Given the description of an element on the screen output the (x, y) to click on. 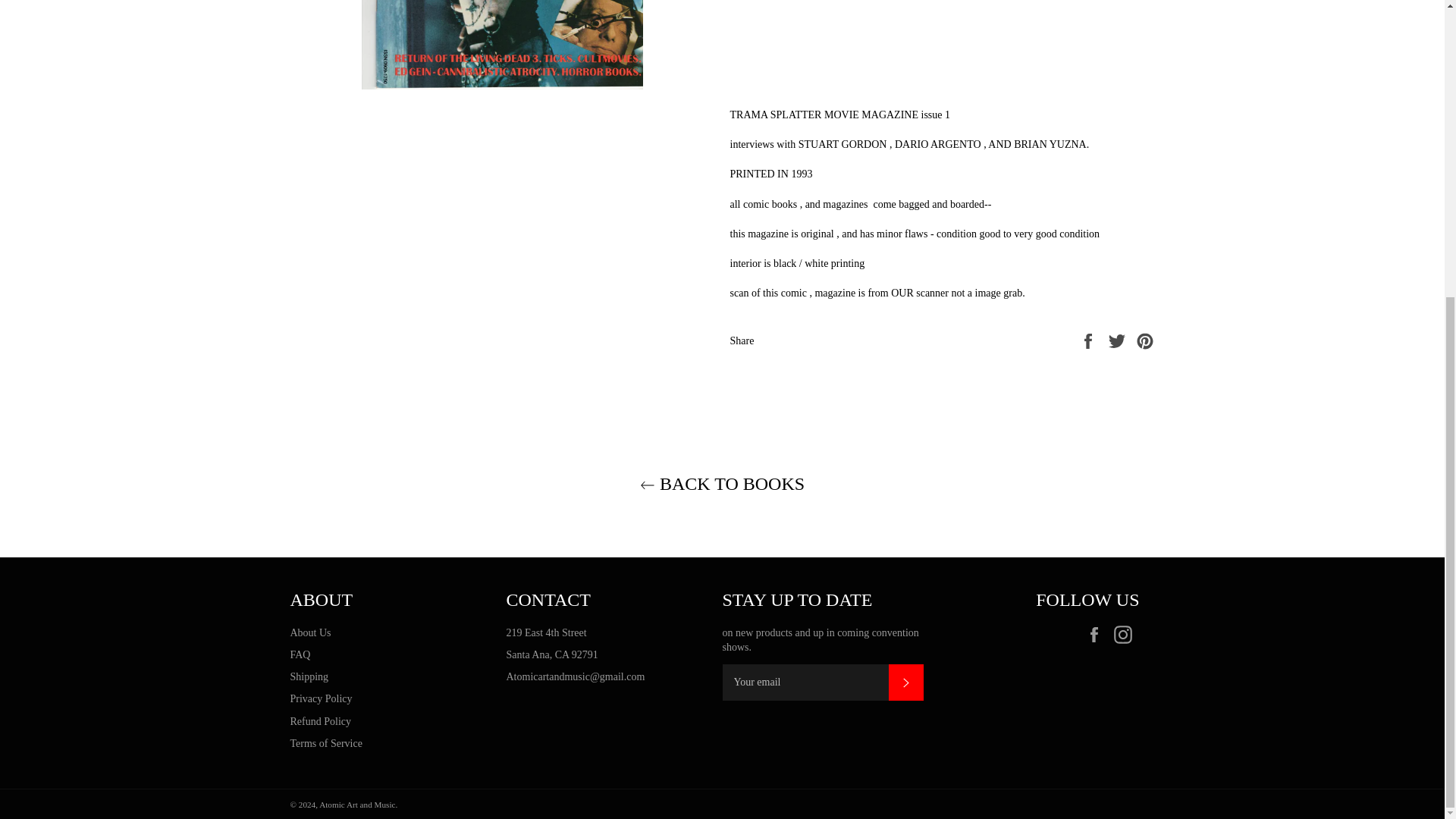
Tweet on Twitter (1118, 339)
Atomic Art and Music on Instagram (1125, 634)
Atomic Art and Music on Facebook (1097, 634)
Pin on Pinterest (1144, 339)
Share on Facebook (1089, 339)
